Given the description of an element on the screen output the (x, y) to click on. 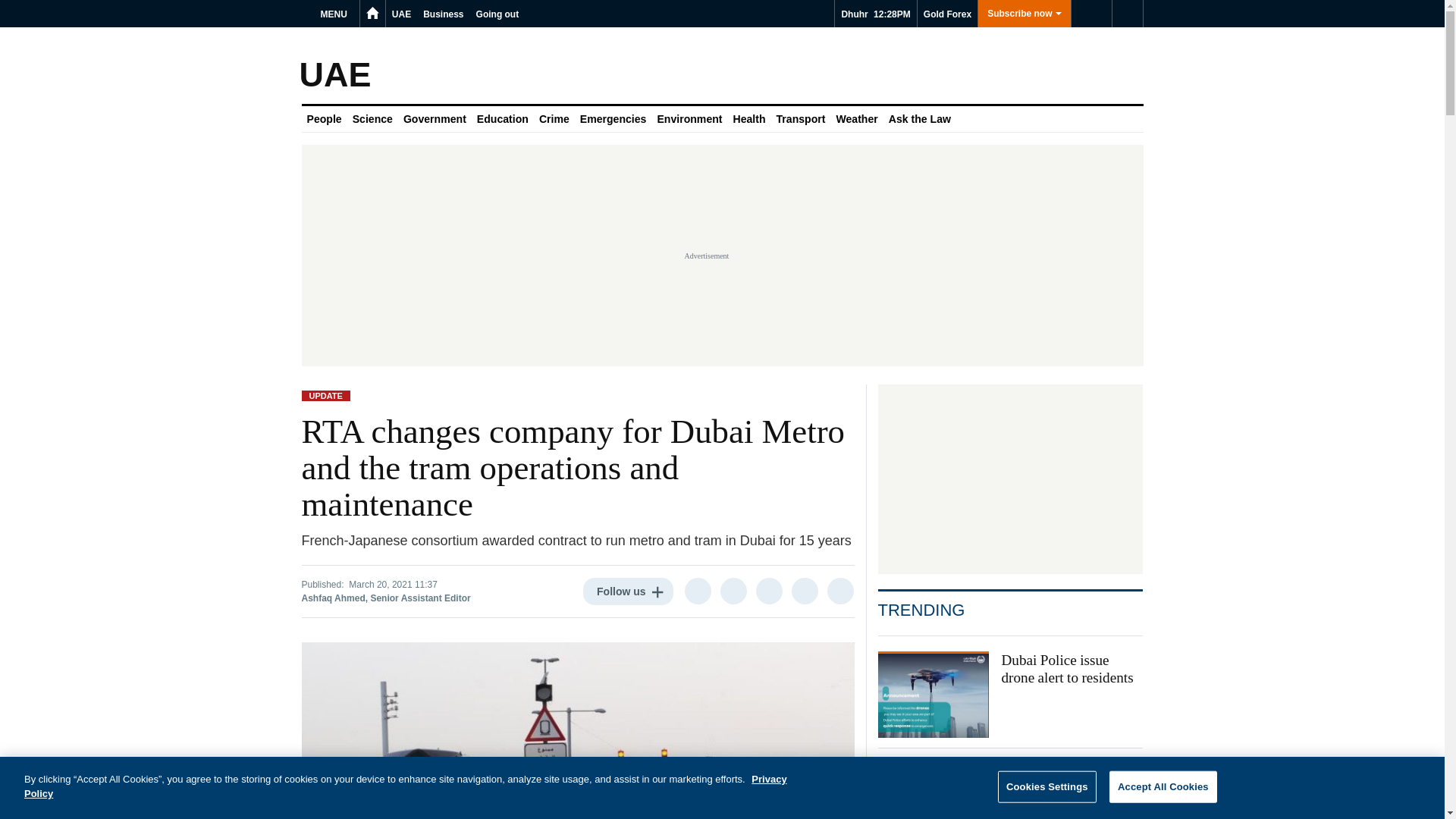
Subscribe now (1024, 13)
MENU (336, 13)
Going out (497, 13)
UAE (400, 13)
Gold Forex (946, 13)
Business (442, 13)
Dhuhr 12:28PM (874, 13)
